Given the description of an element on the screen output the (x, y) to click on. 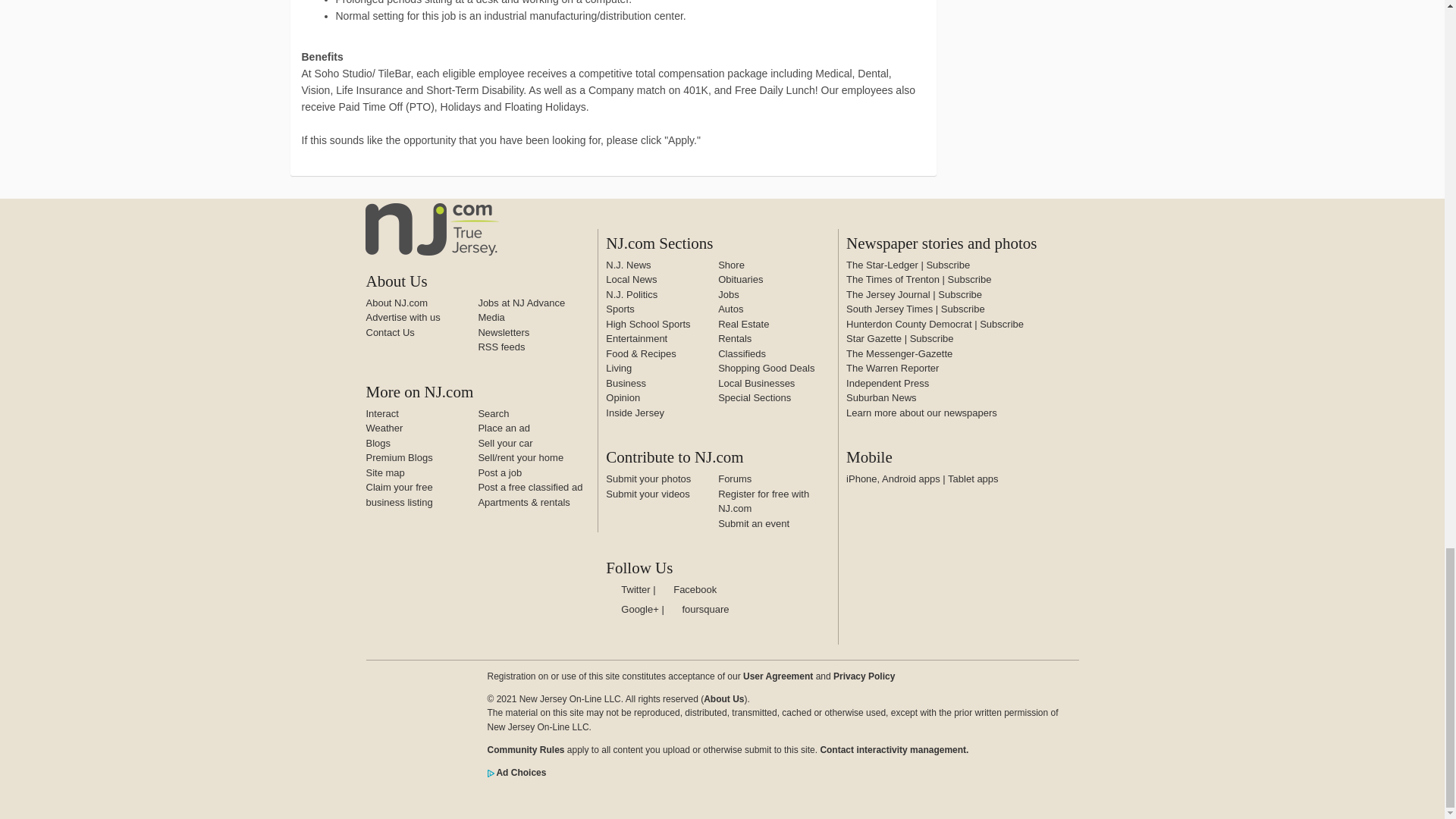
User Agreement (777, 675)
Community Rules (893, 749)
Community Rules (525, 749)
Privacy Policy (863, 675)
Contact Us (389, 331)
